Given the description of an element on the screen output the (x, y) to click on. 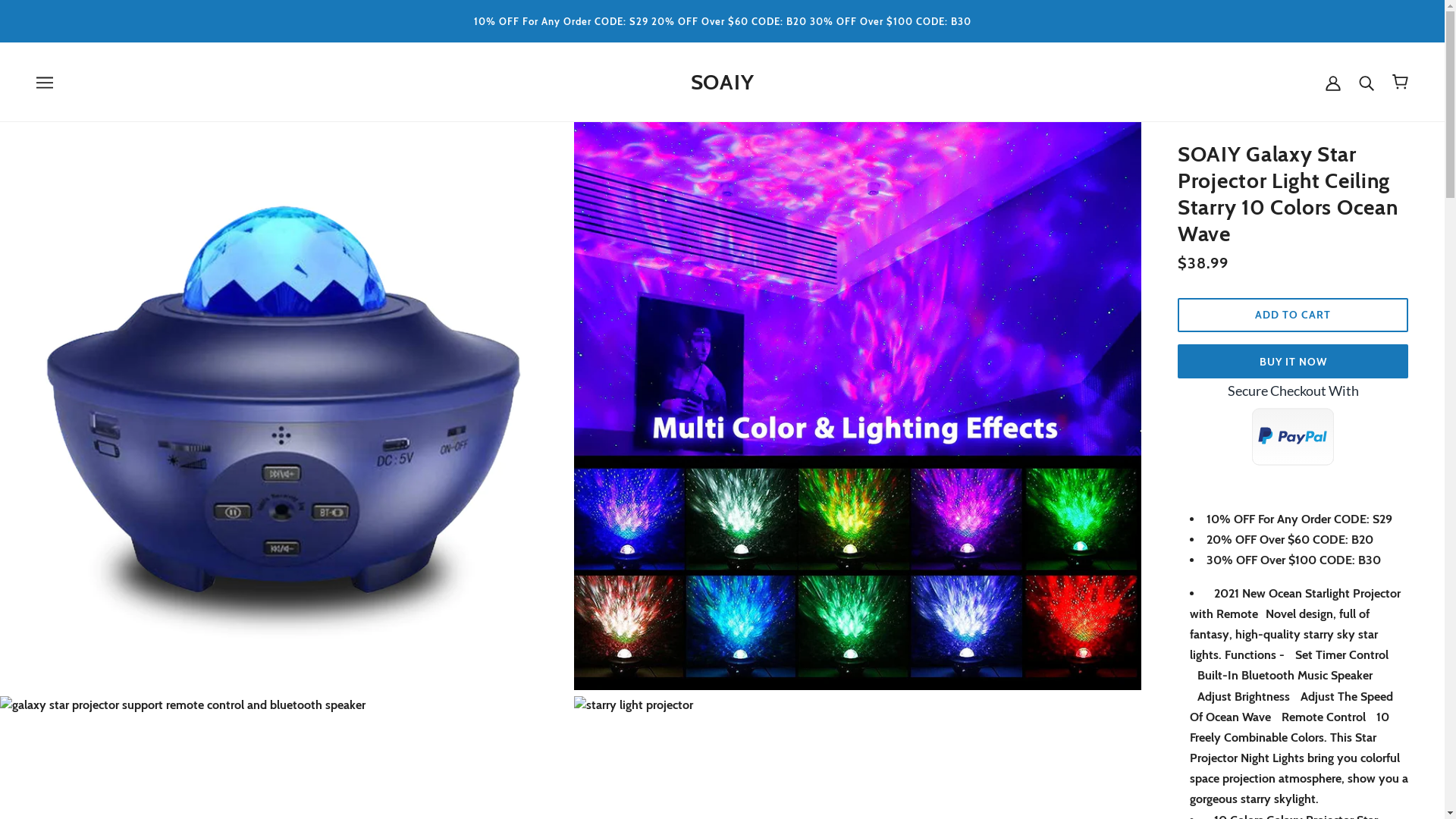
BUY IT NOW Element type: text (1292, 361)
trust-badges-widget Element type: hover (1292, 430)
ADD TO CART Element type: text (1292, 315)
SOAIY Element type: text (722, 81)
